Given the description of an element on the screen output the (x, y) to click on. 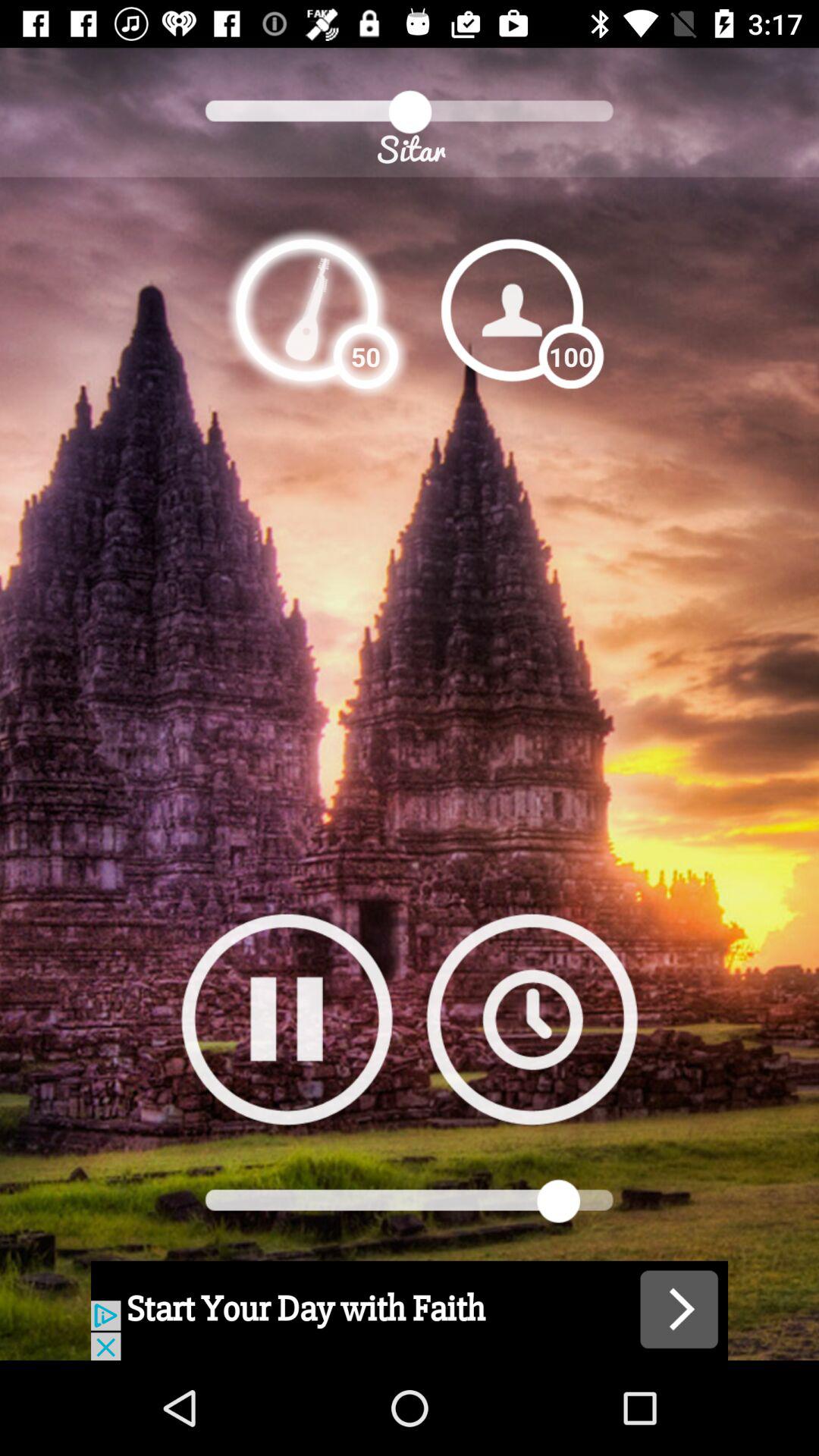
start your day with faith advertisement (409, 1310)
